Given the description of an element on the screen output the (x, y) to click on. 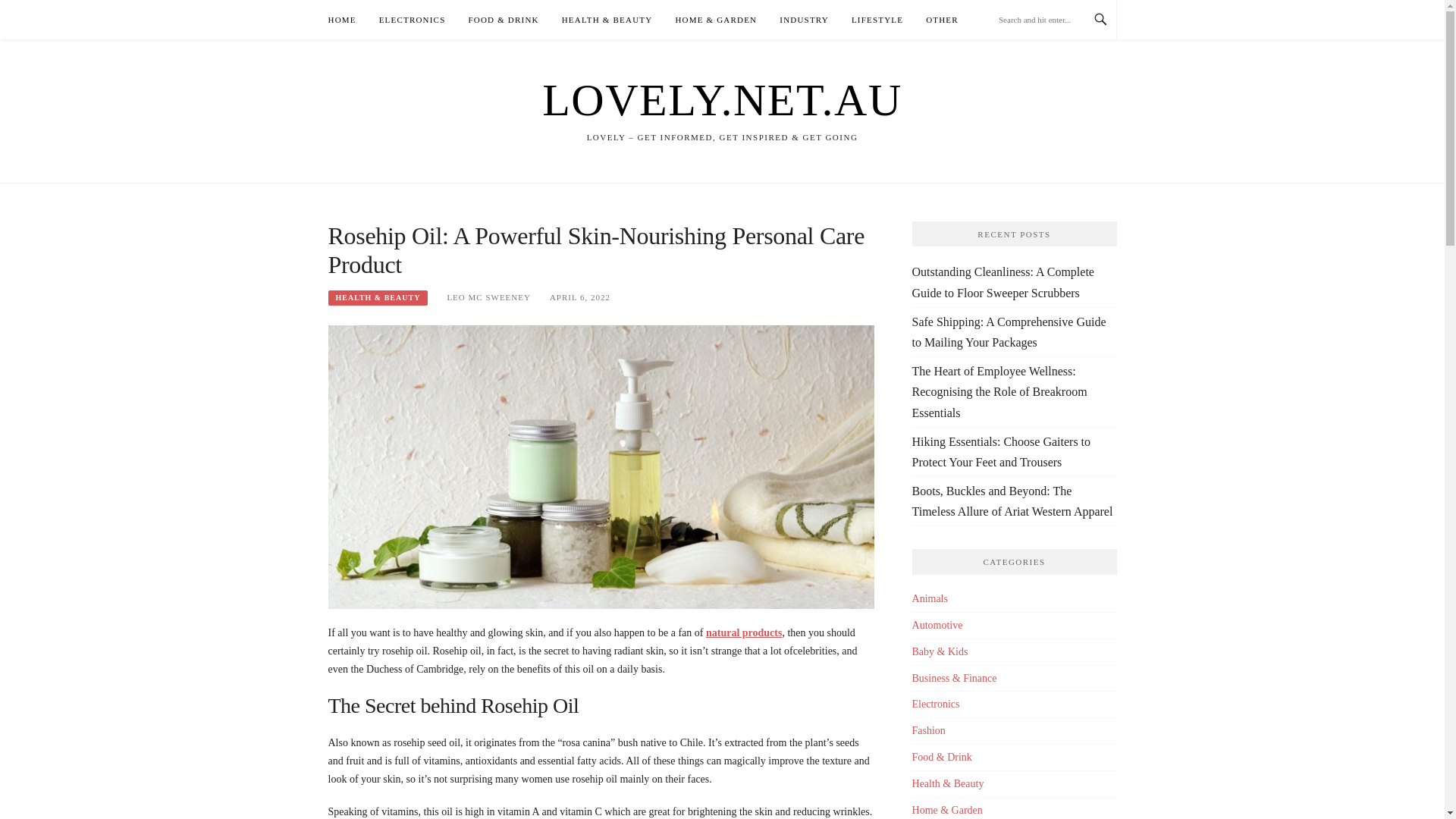
natural products (743, 632)
Fashion (928, 730)
Automotive (937, 624)
Electronics (935, 704)
INDUSTRY (803, 19)
ELECTRONICS (411, 19)
Animals (929, 598)
